Given the description of an element on the screen output the (x, y) to click on. 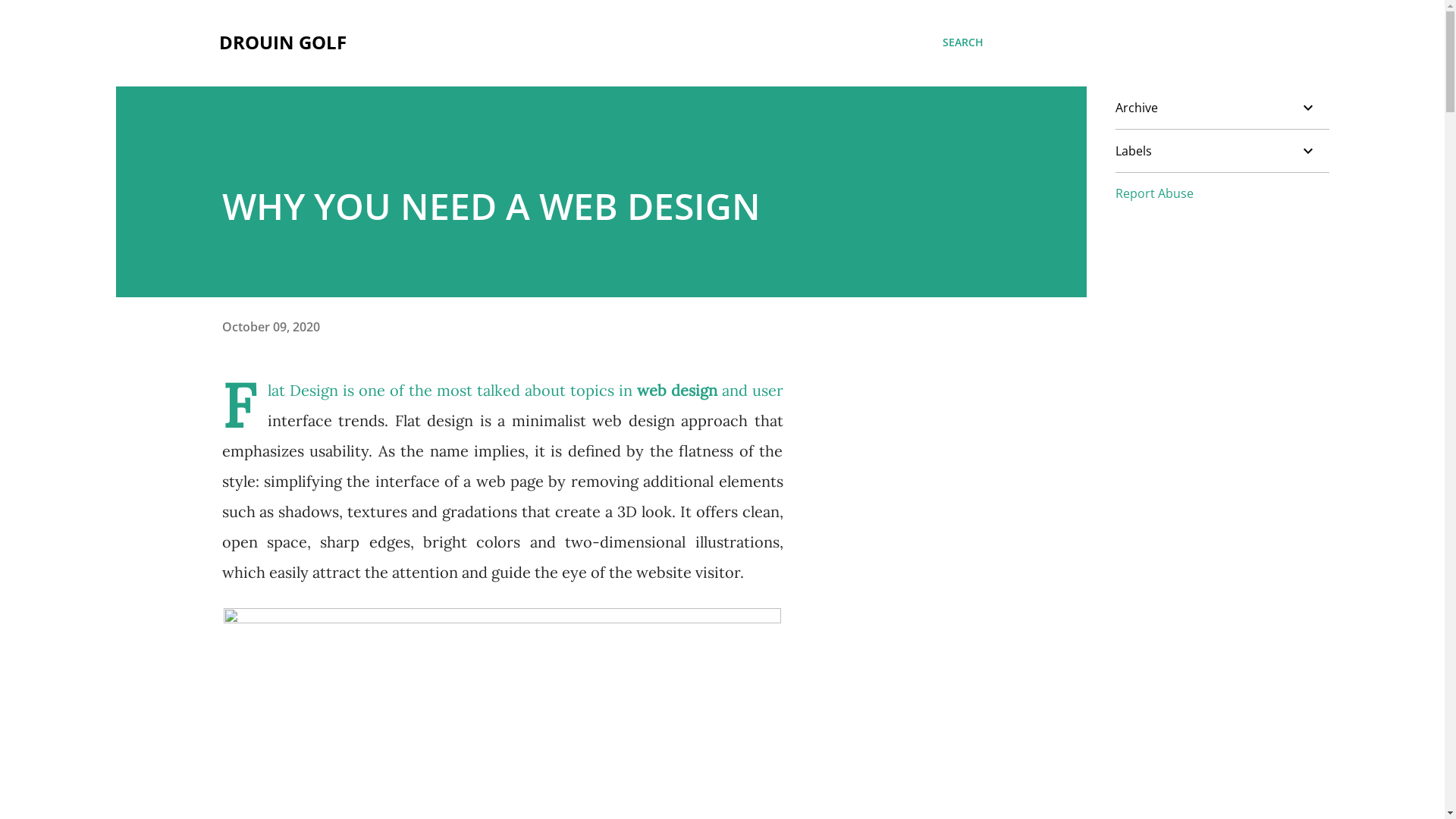
SEARCH Element type: text (961, 42)
DROUIN GOLF Element type: text (281, 41)
Report Abuse Element type: text (1153, 193)
October 09, 2020 Element type: text (270, 326)
